Given the description of an element on the screen output the (x, y) to click on. 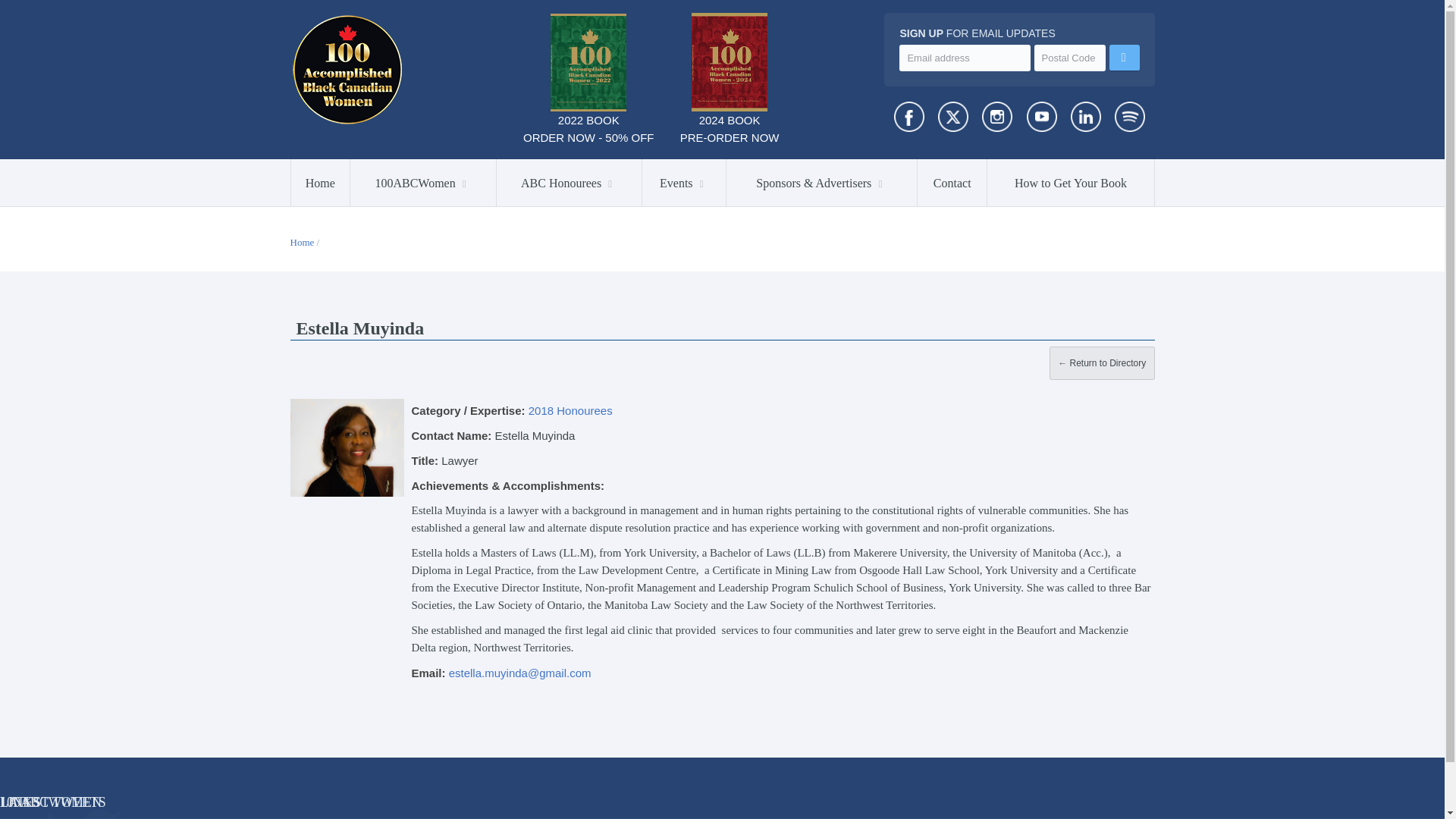
Estella Muyinda (346, 447)
100ABCWomen (423, 182)
ABC Honourees (569, 182)
Home (320, 182)
